Given the description of an element on the screen output the (x, y) to click on. 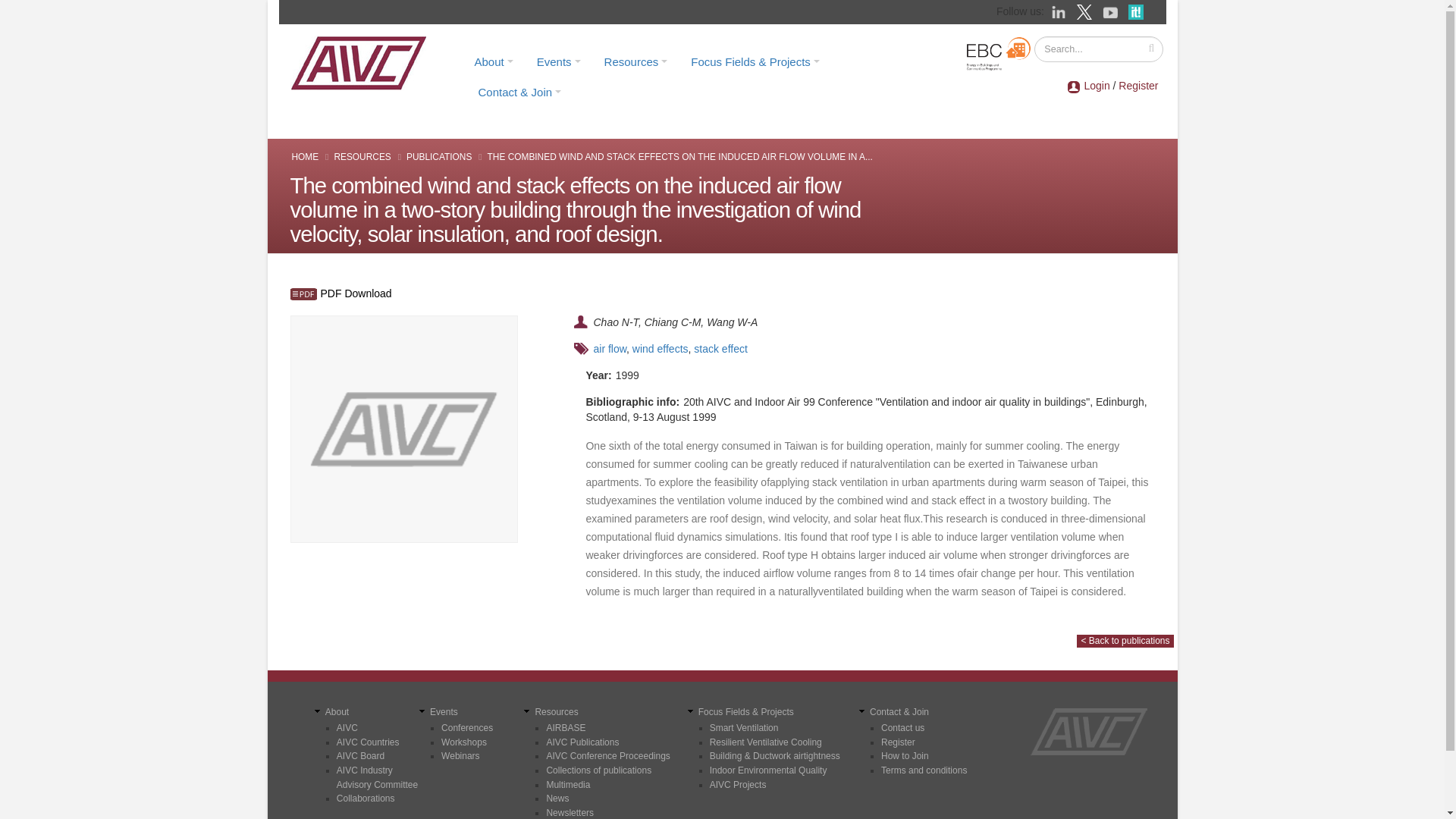
Go to INIVE sccop.it page (1139, 10)
Go to AIVC twitter page (1086, 10)
Home (362, 61)
About (493, 61)
Go to AIVC LinkedIn page (1059, 10)
Resources (636, 61)
About AIVC (493, 61)
Login (1096, 85)
Go to AIVC YouTube page (1111, 10)
Events (559, 61)
